Given the description of an element on the screen output the (x, y) to click on. 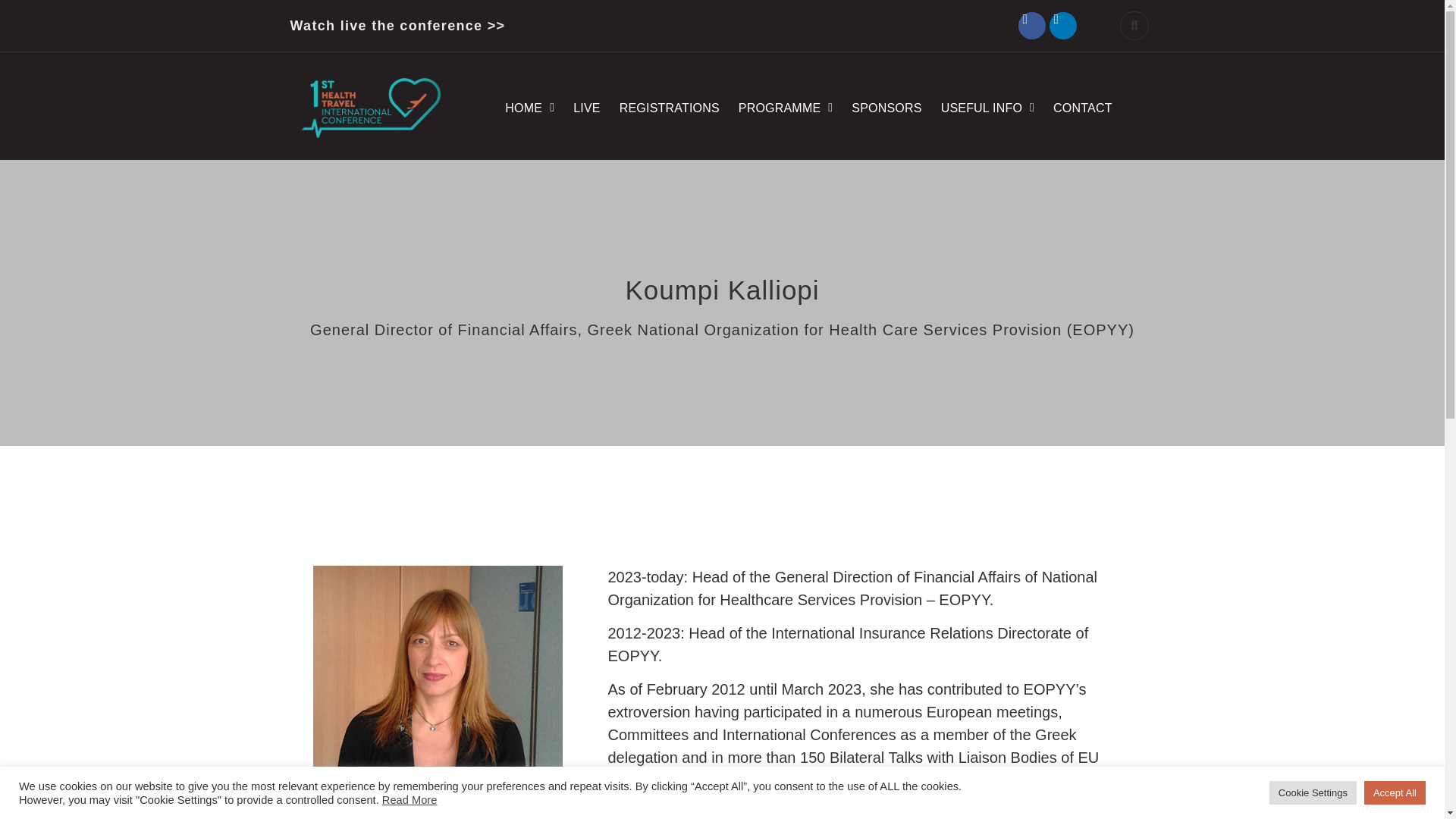
PROGRAMME (785, 107)
LIVE (586, 107)
HOME (529, 107)
SPONSORS (886, 107)
USEFUL INFO (986, 107)
REGISTRATIONS (669, 107)
CONTACT (1082, 107)
